Given the description of an element on the screen output the (x, y) to click on. 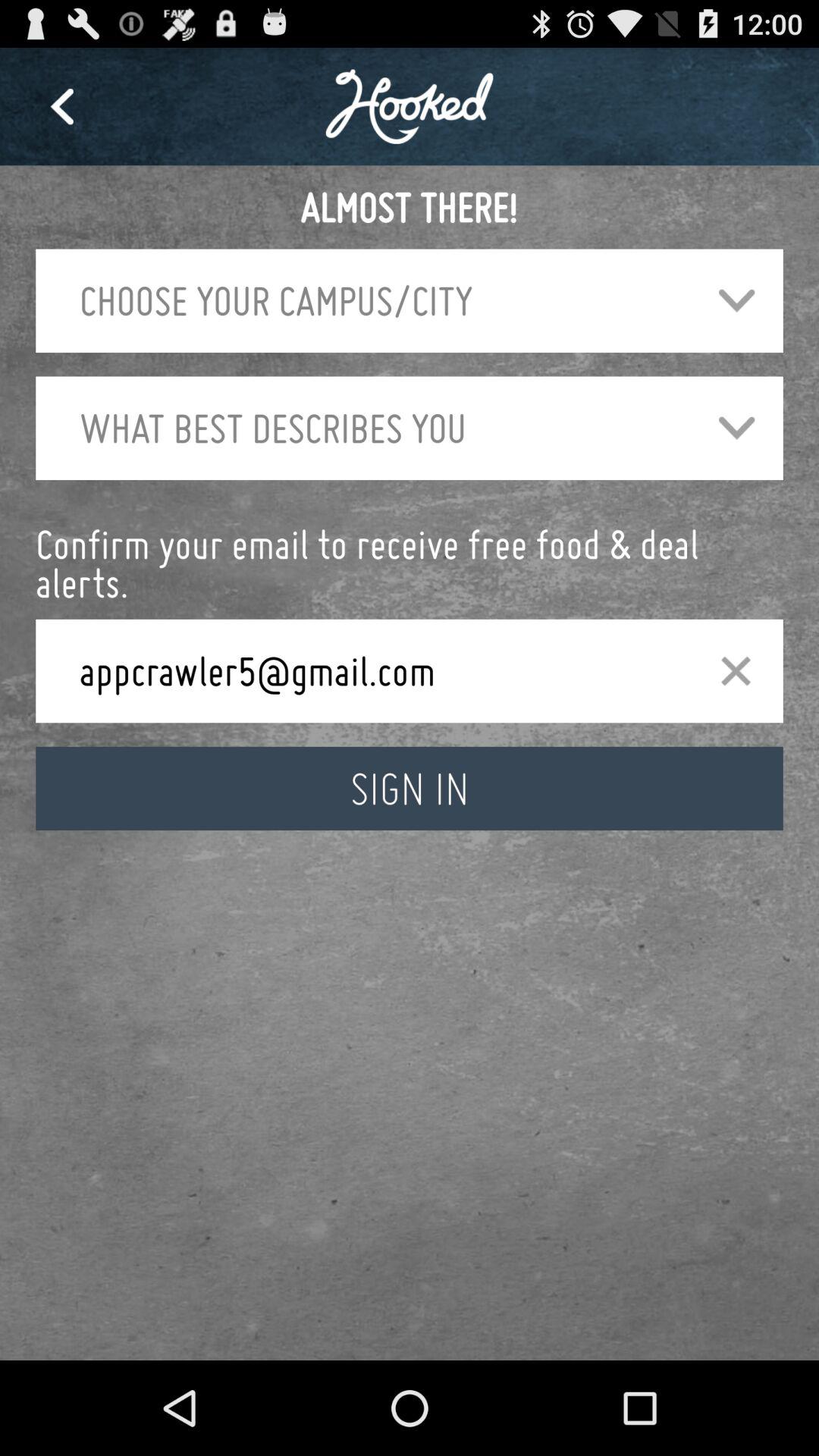
tap app below confirm your email item (735, 670)
